Given the description of an element on the screen output the (x, y) to click on. 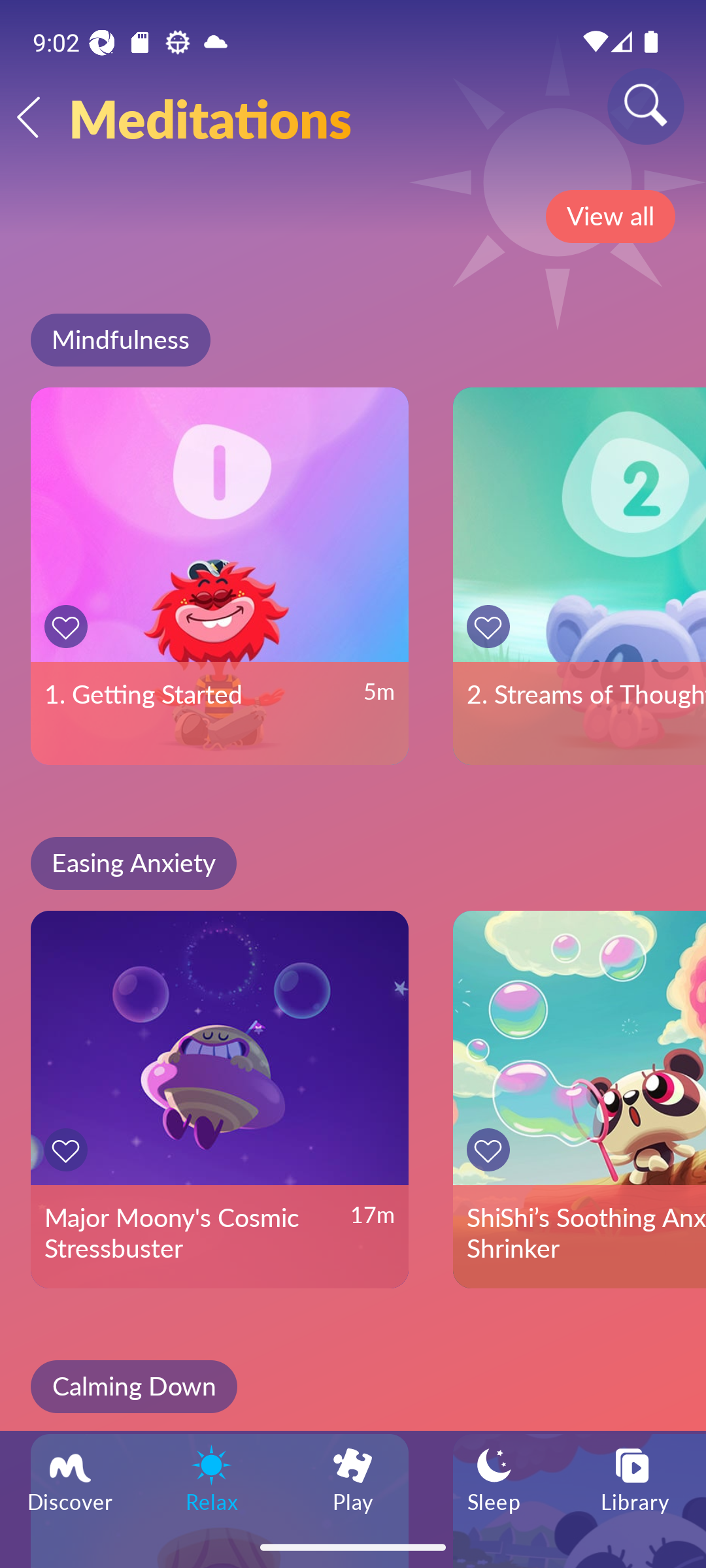
View all (609, 216)
Featured Content Button 1. Getting Started 5m (219, 576)
Featured Content Button 2. Streams of Thought (579, 576)
Button (69, 625)
Button (491, 625)
Button (69, 1149)
Button (491, 1149)
Discover (70, 1478)
Play (352, 1478)
Sleep (493, 1478)
Library (635, 1478)
